Given the description of an element on the screen output the (x, y) to click on. 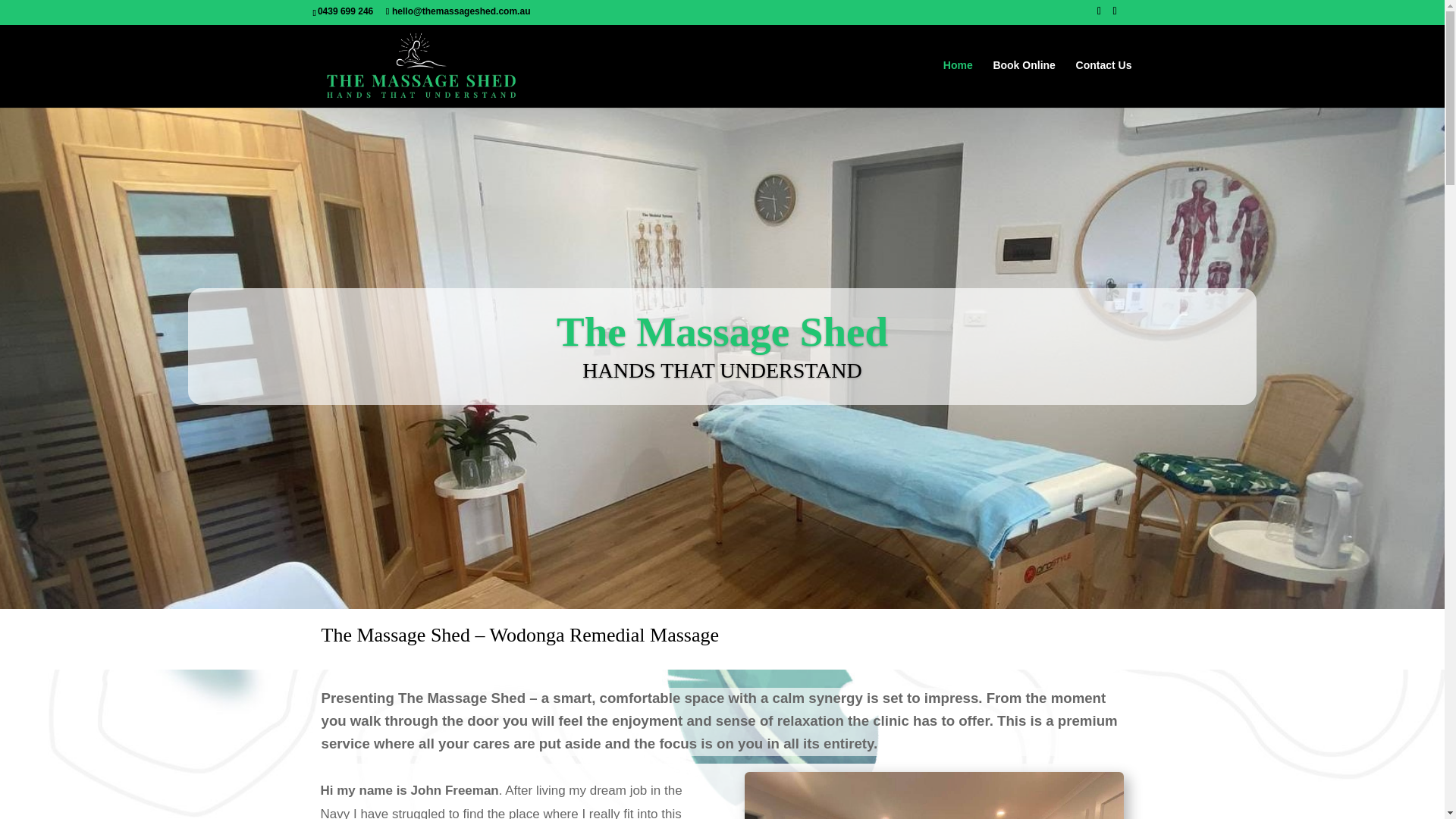
Book Online (1023, 83)
Contact Us (1103, 83)
0439 699 246 (347, 10)
